Given the description of an element on the screen output the (x, y) to click on. 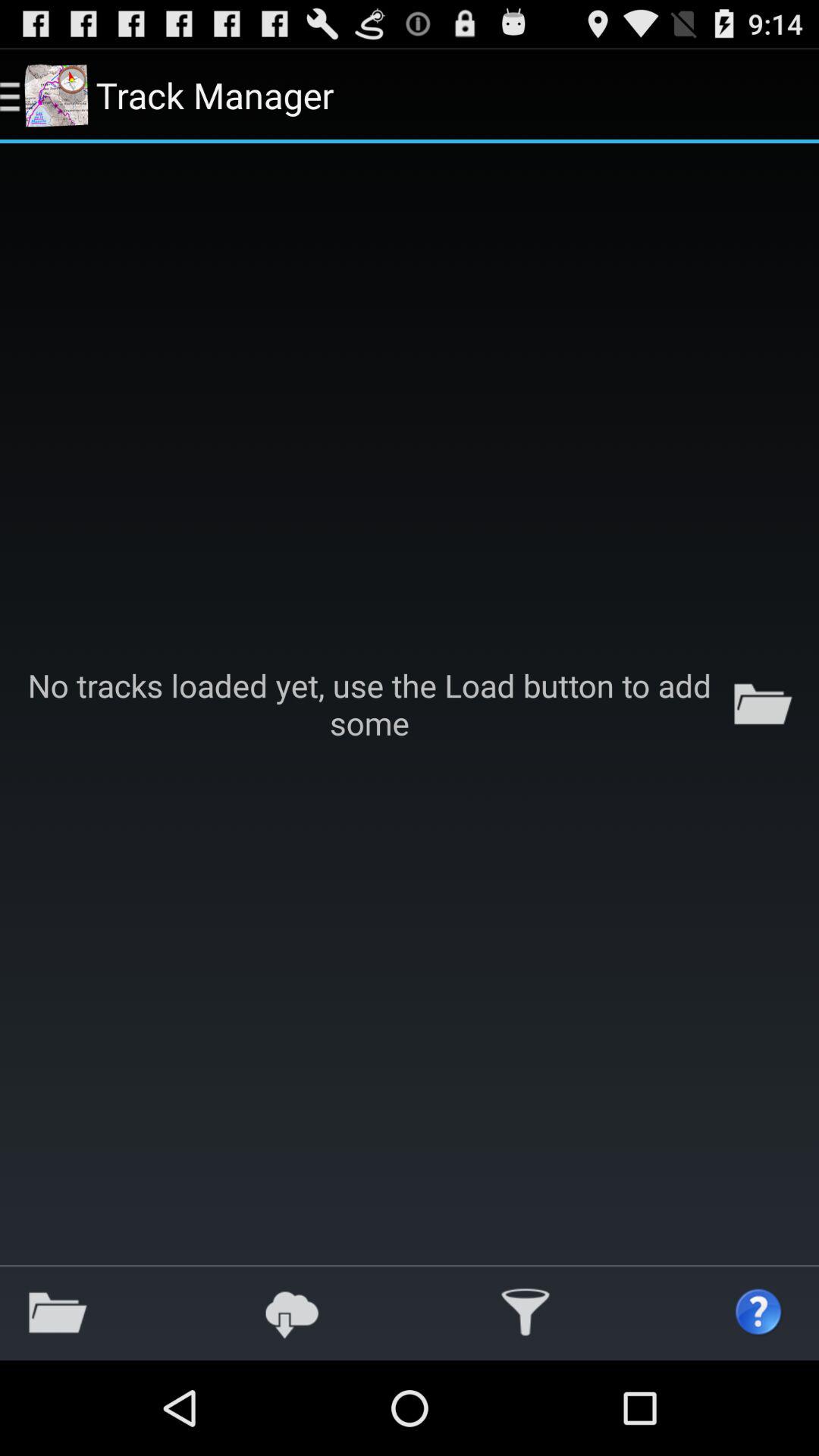
tap the item below no tracks loaded (759, 1312)
